Given the description of an element on the screen output the (x, y) to click on. 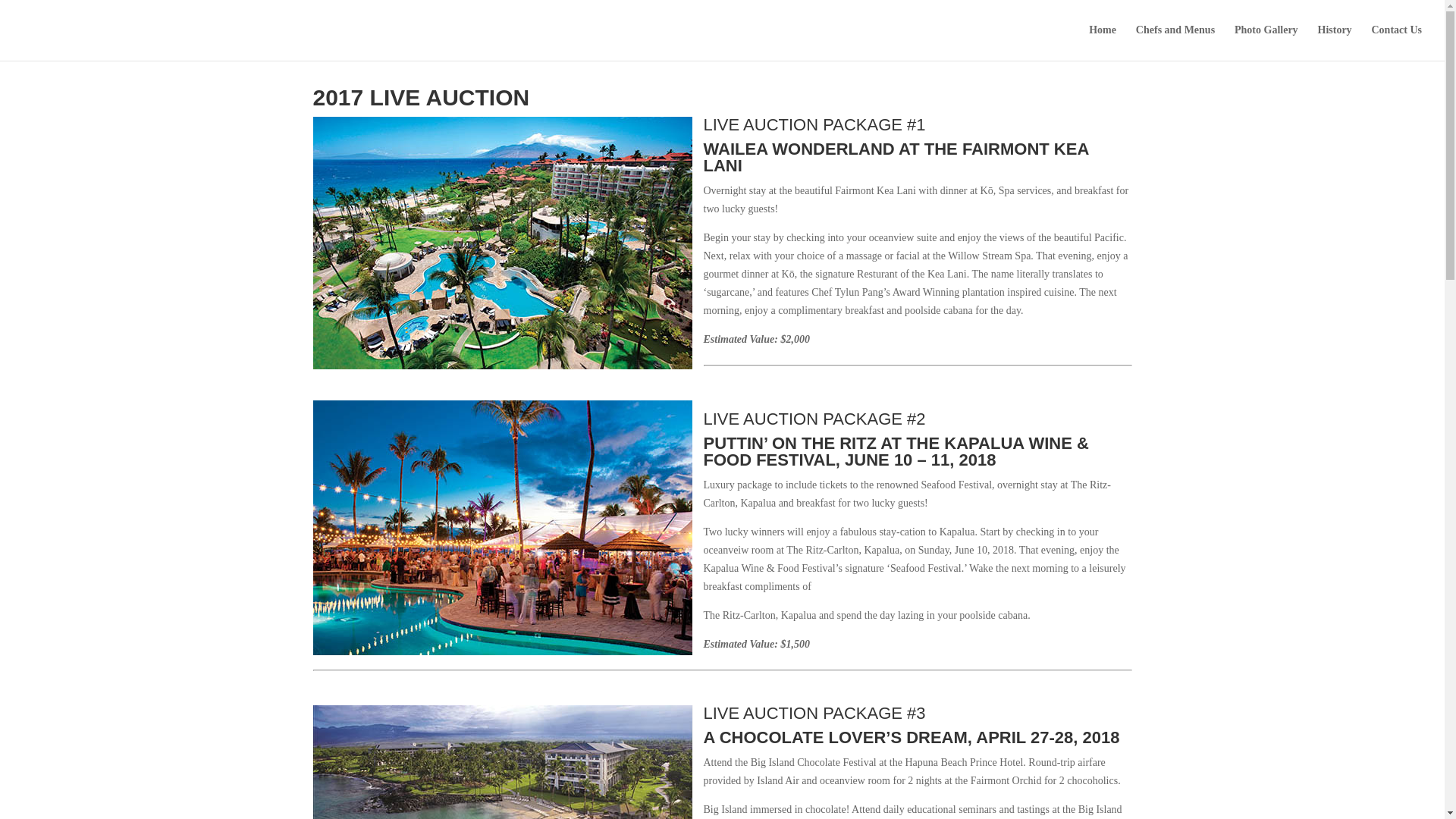
Photo Gallery (1266, 42)
Contact Us (1396, 42)
History (1334, 42)
Chefs and Menus (1174, 42)
